Given the description of an element on the screen output the (x, y) to click on. 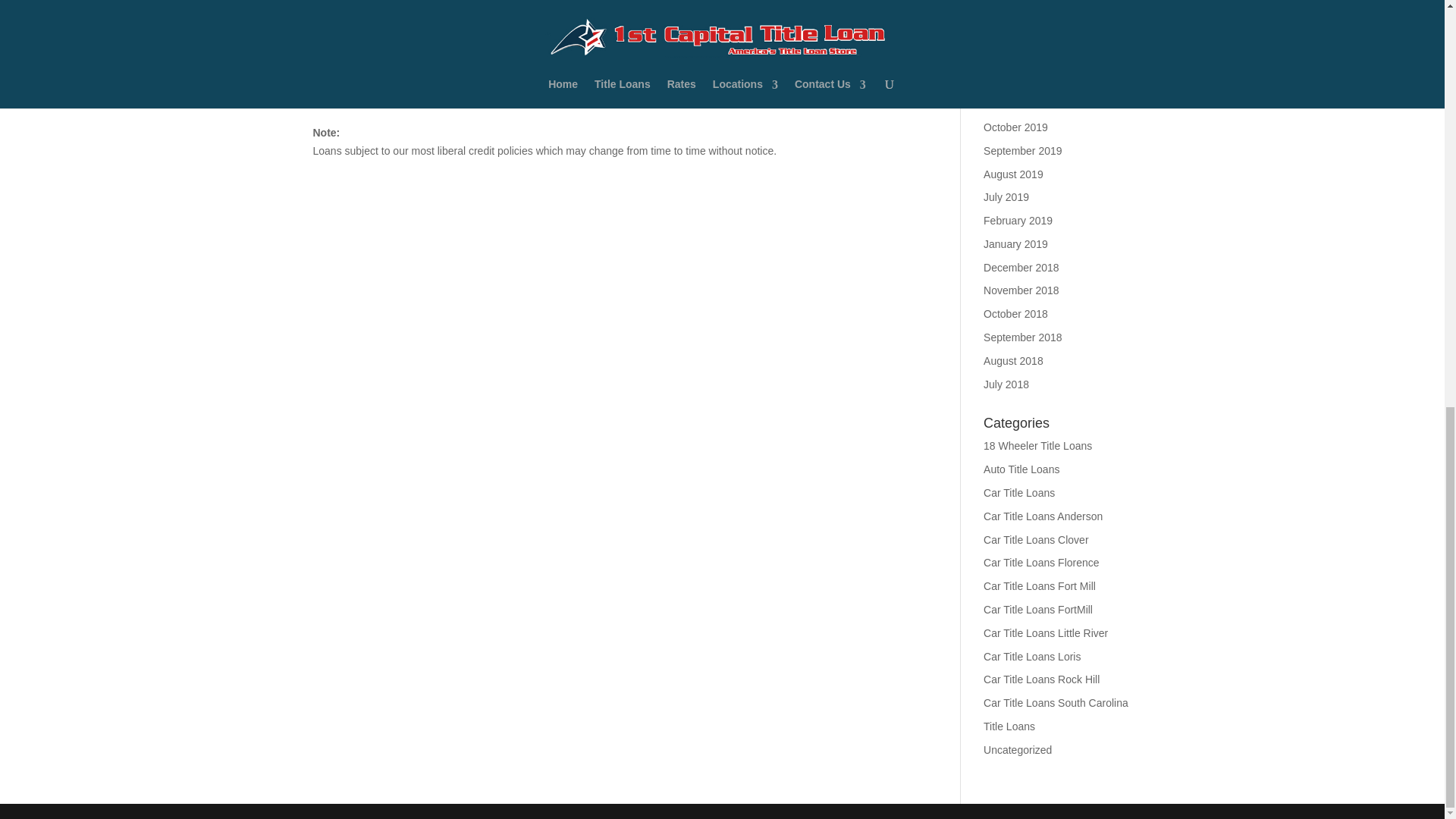
8039802274 (379, 74)
1st Capital Title Loans (364, 18)
